Given the description of an element on the screen output the (x, y) to click on. 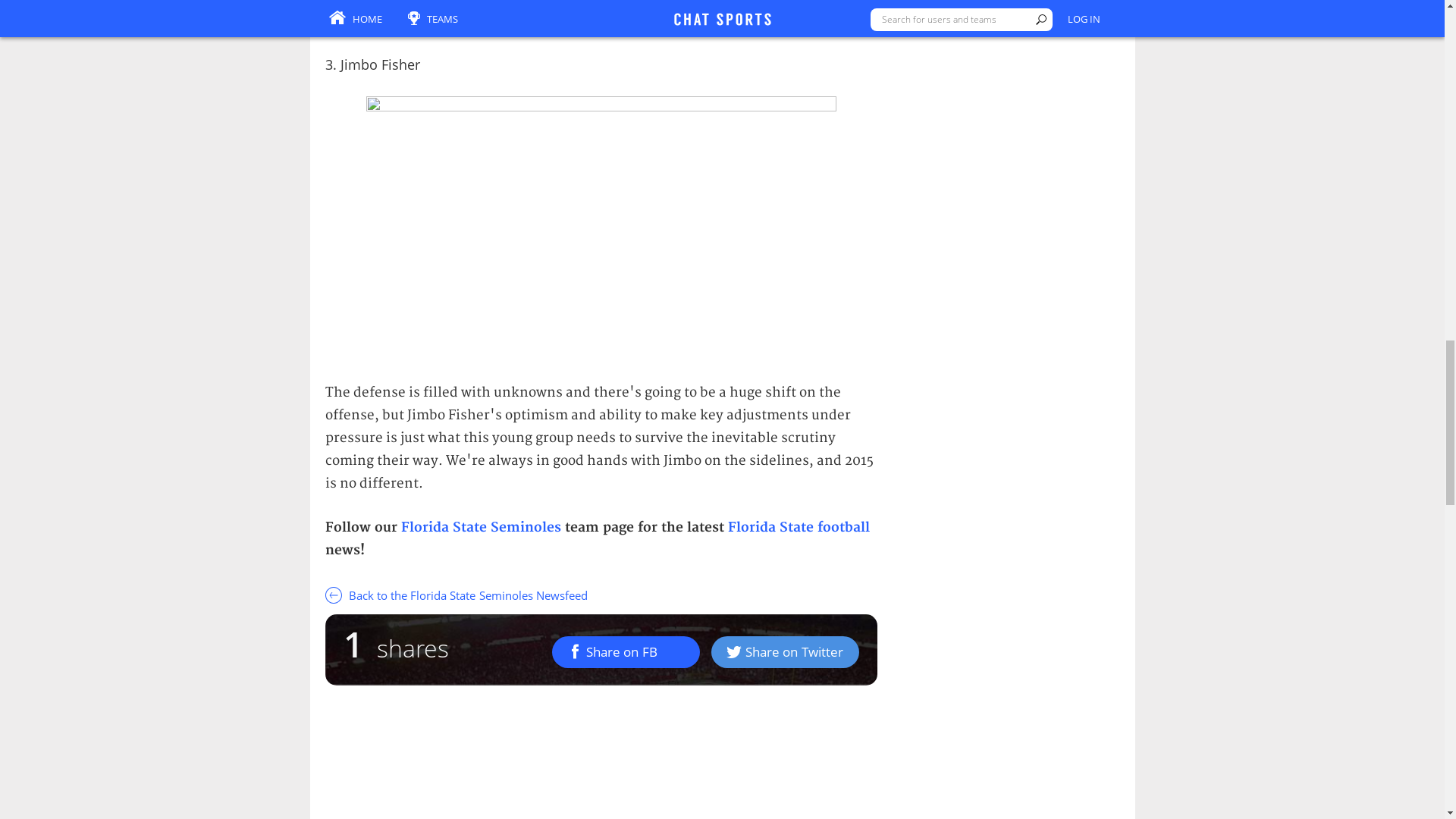
Share on Twitter (785, 651)
Florida State football (798, 526)
Back to the Florida State Seminoles Newsfeed (600, 594)
Share on FB (625, 651)
Florida State Seminoles (480, 526)
